Given the description of an element on the screen output the (x, y) to click on. 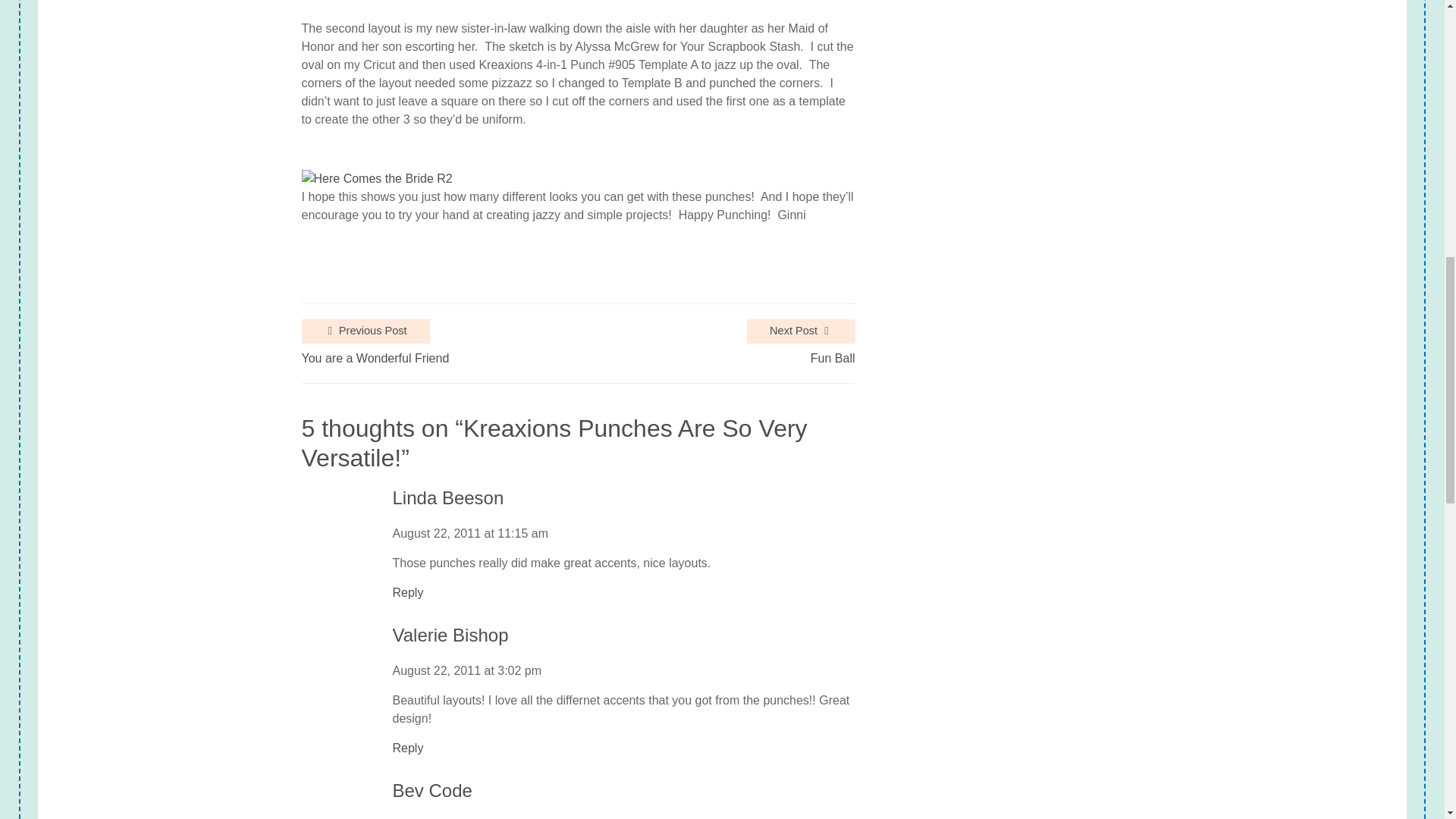
Here Comes the Bride R2 (376, 178)
Reply (408, 592)
Reply (408, 748)
Previous Post (365, 331)
Linda Beeson (448, 498)
Next Post (800, 331)
Fun Ball (833, 358)
You are a Wonderful Friend (375, 358)
Bev Code (432, 791)
